Given the description of an element on the screen output the (x, y) to click on. 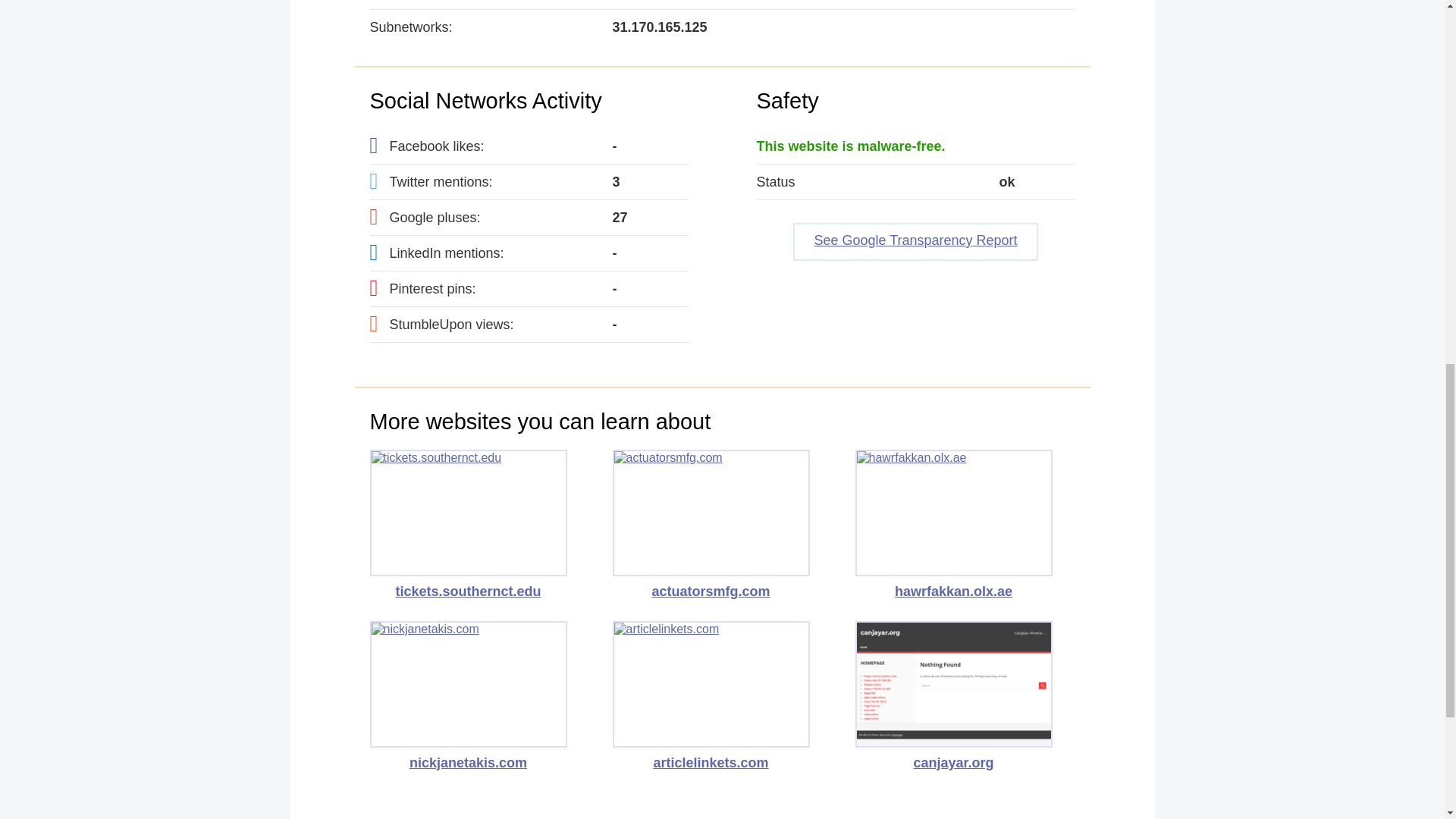
hawrfakkan.olx.ae (954, 524)
tickets.southernct.edu (468, 524)
articlelinkets.com (710, 695)
canjayar.org (954, 695)
nickjanetakis.com (468, 695)
actuatorsmfg.com (710, 524)
See Google Transparency Report (914, 241)
